Given the description of an element on the screen output the (x, y) to click on. 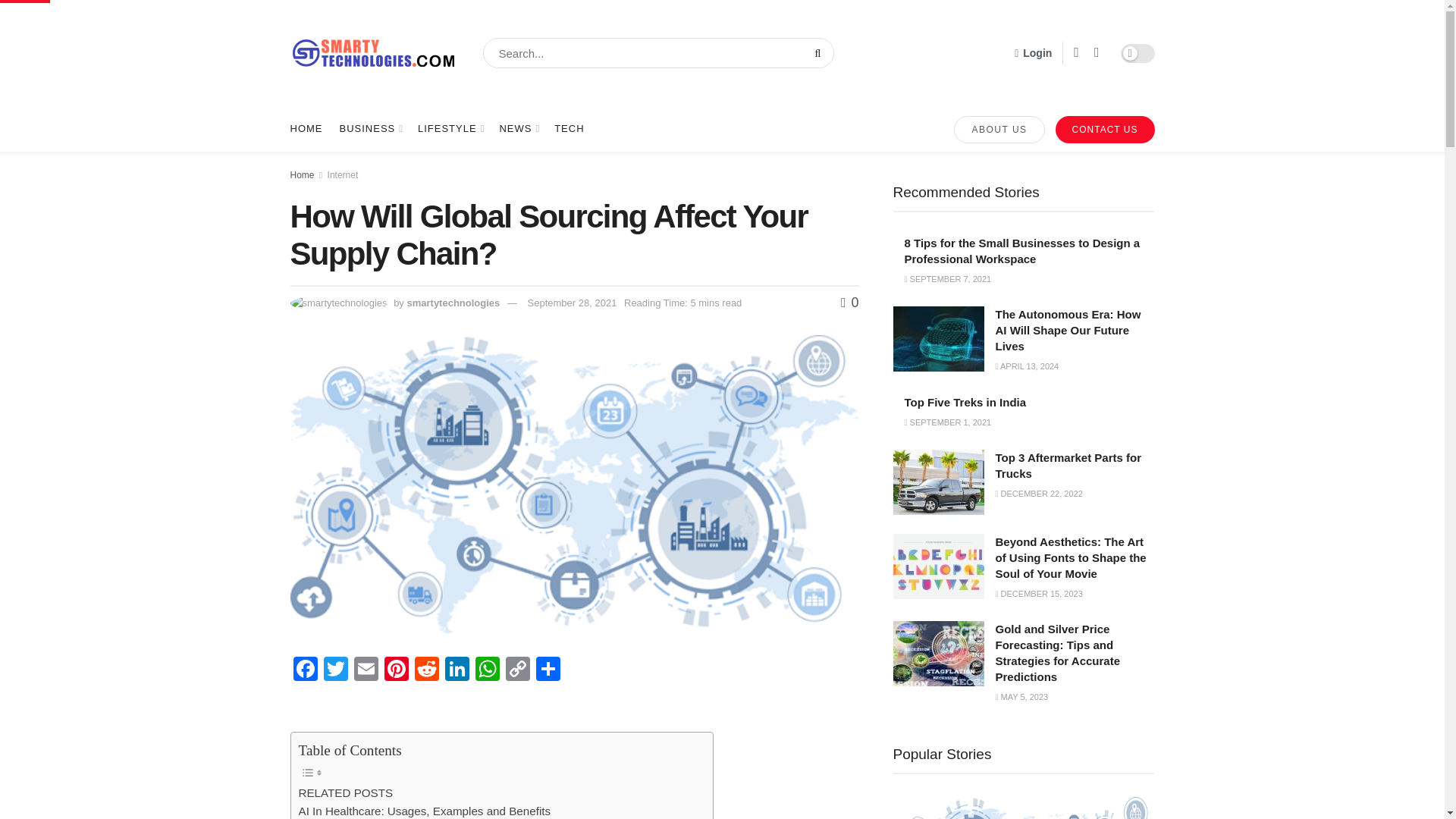
CONTACT US (1104, 129)
NEWS (518, 128)
LIFESTYLE (449, 128)
LinkedIn (424, 810)
WhatsApp (456, 670)
Pinterest (486, 670)
Internet (395, 670)
BUSINESS (342, 174)
Home (370, 128)
HOME (301, 174)
RELATED POSTS (305, 128)
TECH (345, 792)
Copy Link (568, 128)
Facebook (517, 670)
